Given the description of an element on the screen output the (x, y) to click on. 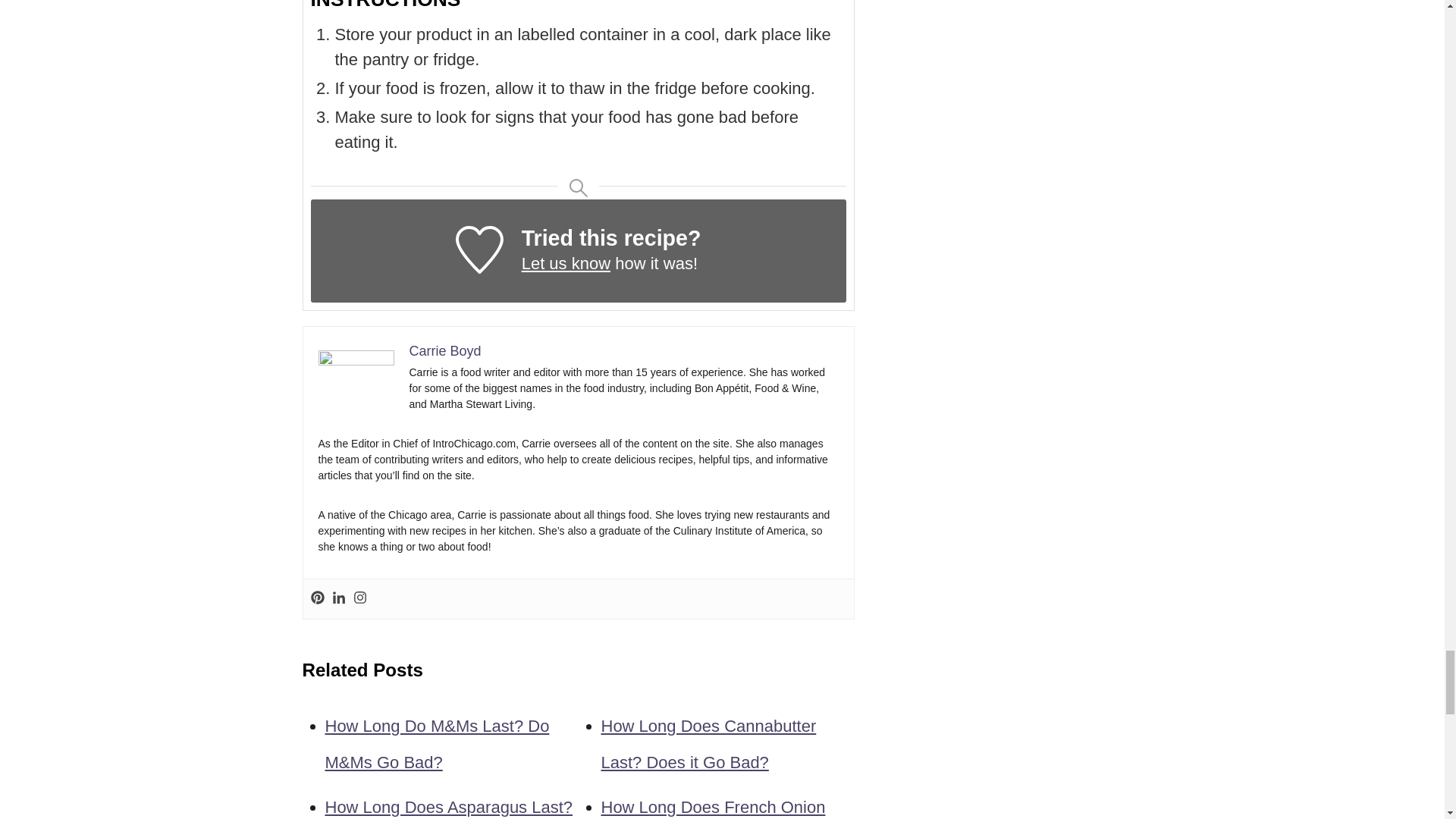
How Long Does French Onion Dip Last? Shelf Life (712, 808)
Let us know (565, 262)
How Long Does Cannabutter Last? Does it Go Bad? (707, 744)
Carrie Boyd (445, 350)
How Long Does Asparagus Last? Does it Go Bad? (448, 808)
